Given the description of an element on the screen output the (x, y) to click on. 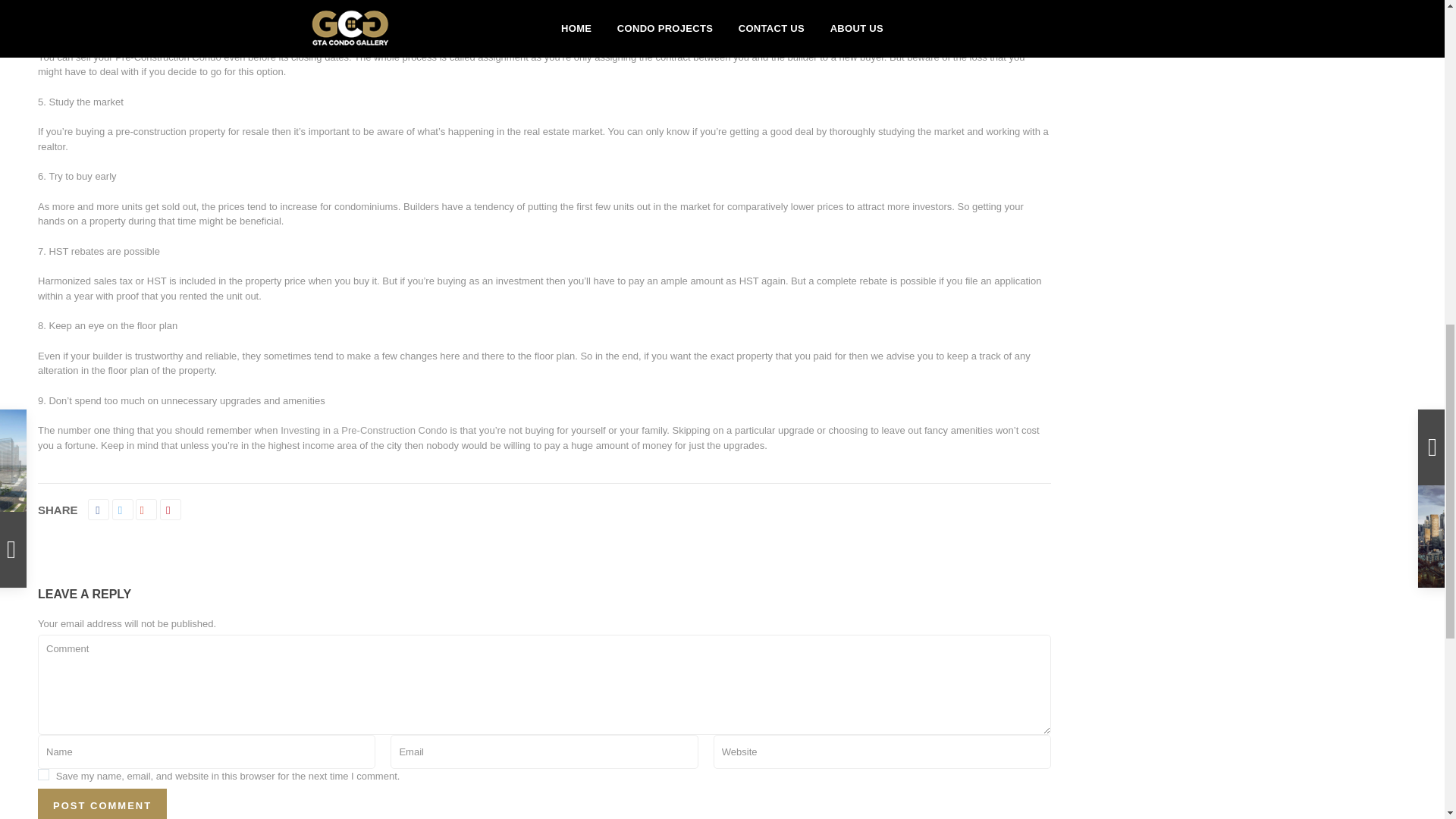
Condo (206, 57)
Condo (206, 57)
yes (43, 774)
Post Comment (102, 803)
Pre-Construction Condo (363, 430)
Investing in a Pre-Construction Condo (363, 430)
Post Comment (102, 803)
